Given the description of an element on the screen output the (x, y) to click on. 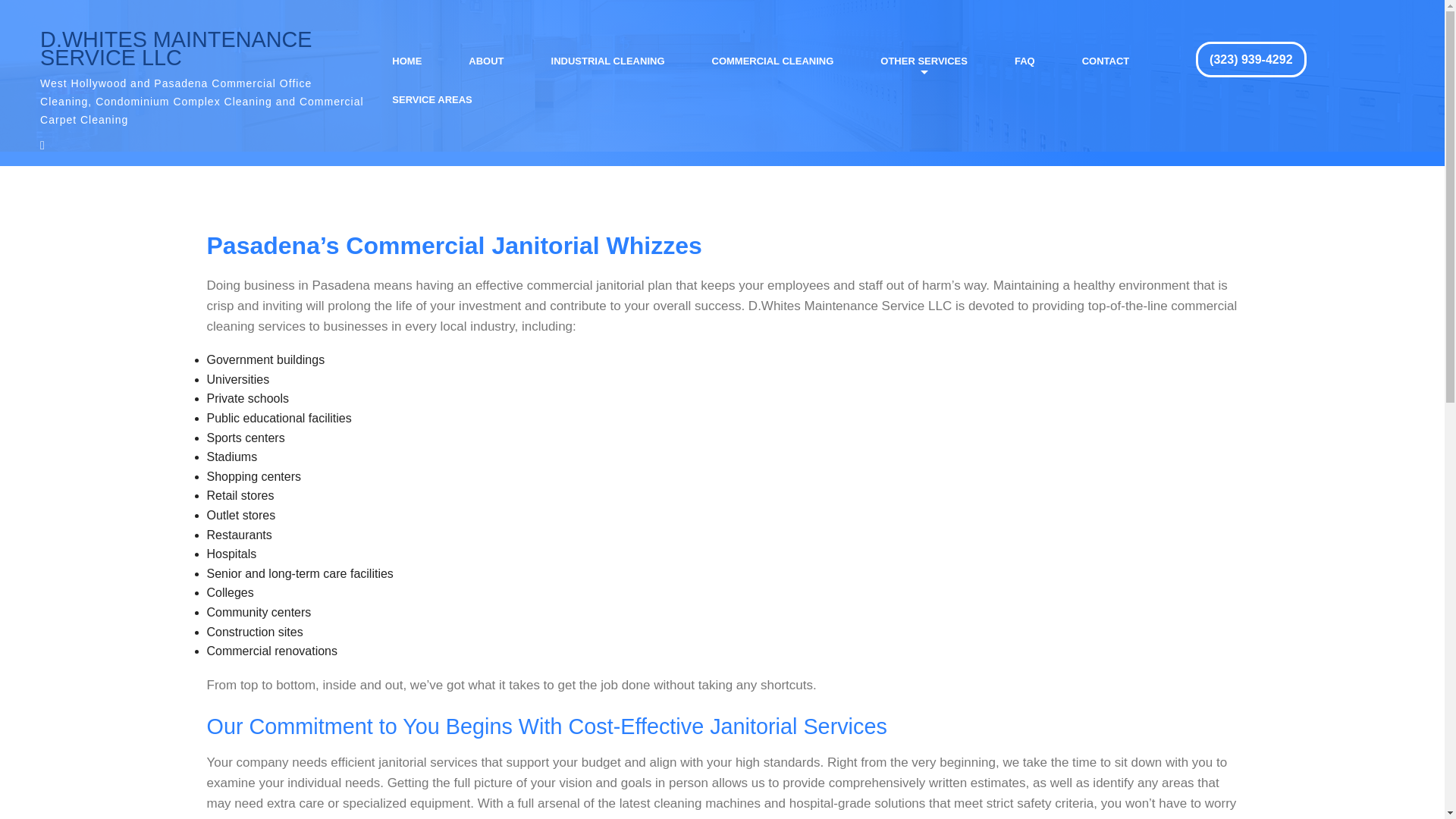
D.WHITES MAINTENANCE SERVICE LLC (202, 48)
HOME (406, 60)
INDUSTRIAL CLEANING (607, 60)
COMMERCIAL CLEANING (772, 60)
OTHER SERVICES (923, 60)
ABOUT (485, 60)
